Given the description of an element on the screen output the (x, y) to click on. 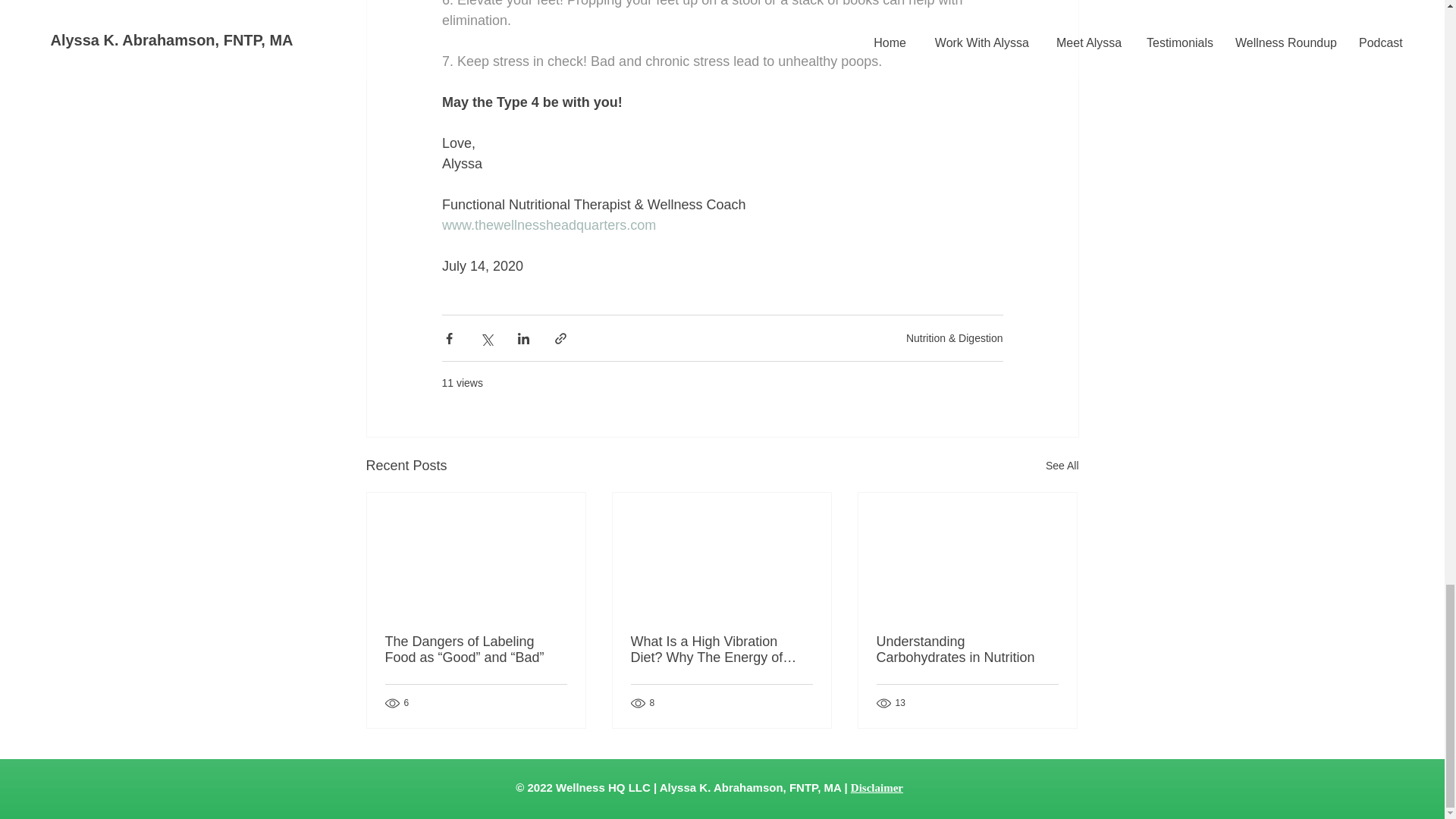
Disclaimer (876, 787)
www.thewellnessheadquarters.com (548, 224)
Understanding Carbohydrates in Nutrition (967, 649)
See All (1061, 465)
